Given the description of an element on the screen output the (x, y) to click on. 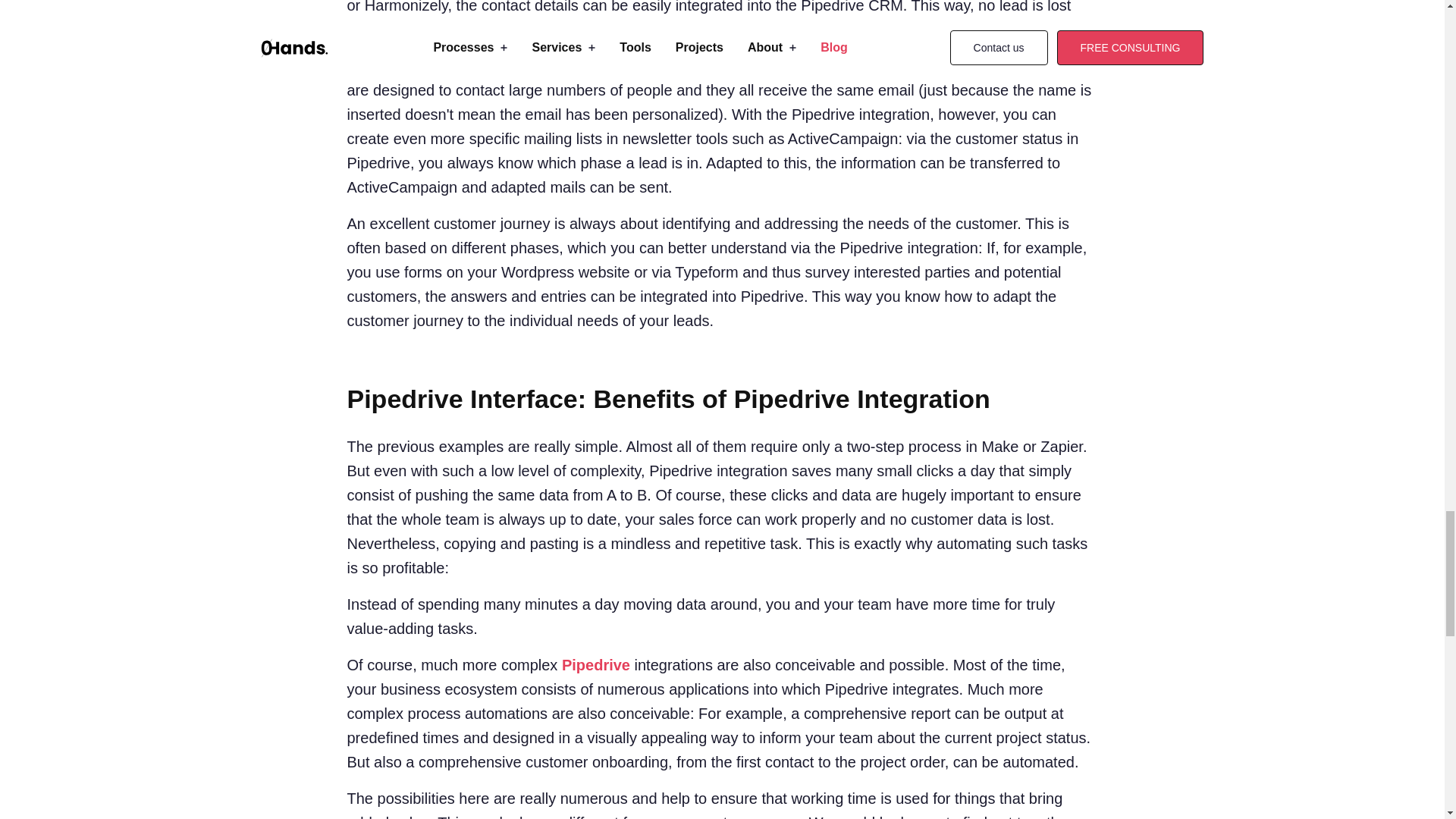
Pipedrive (596, 664)
